Given the description of an element on the screen output the (x, y) to click on. 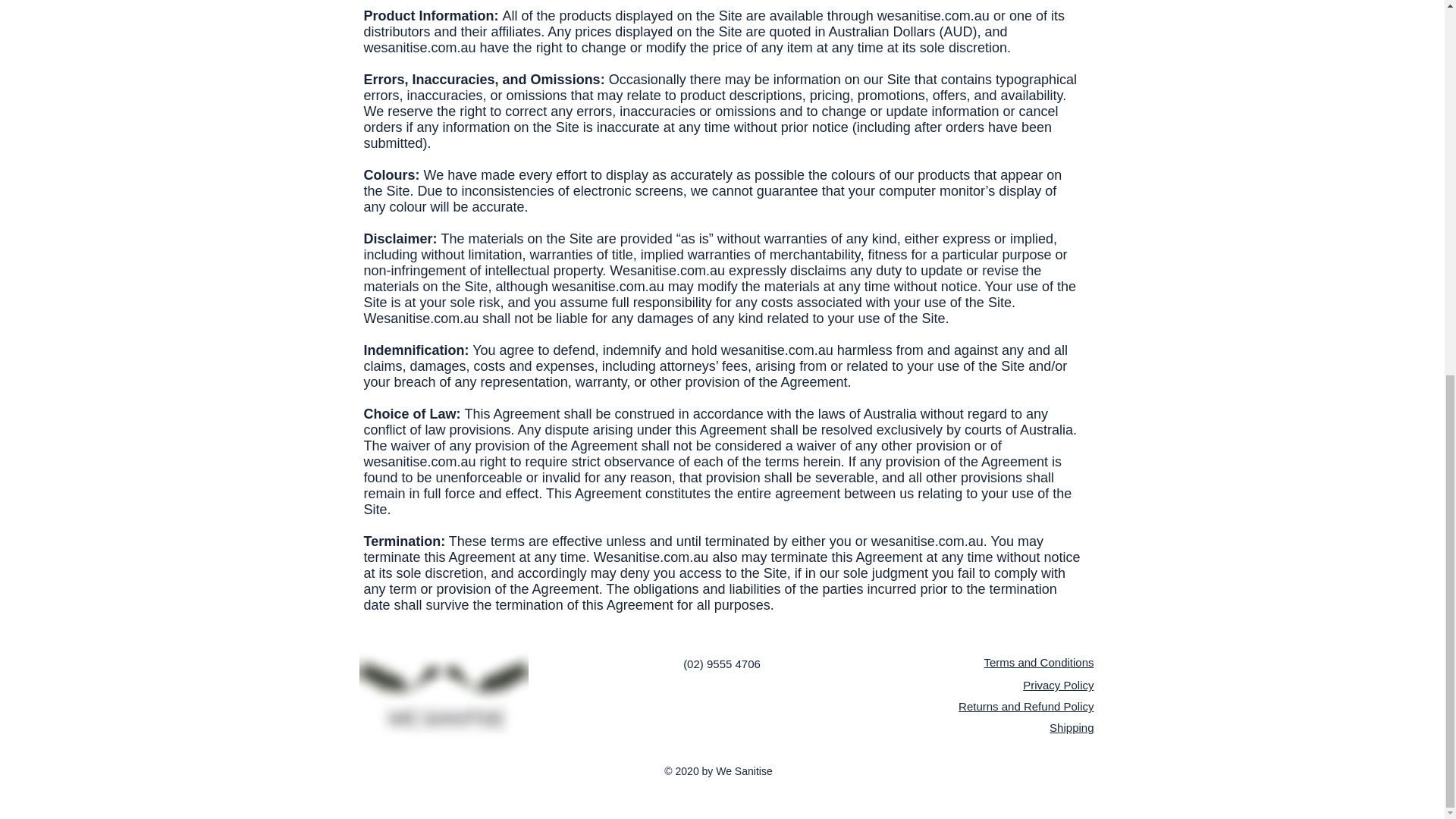
Privacy Policy (1058, 684)
Returns and Refund Policy (1025, 706)
Terms and Conditions (1038, 662)
Shipping (1071, 727)
